Given the description of an element on the screen output the (x, y) to click on. 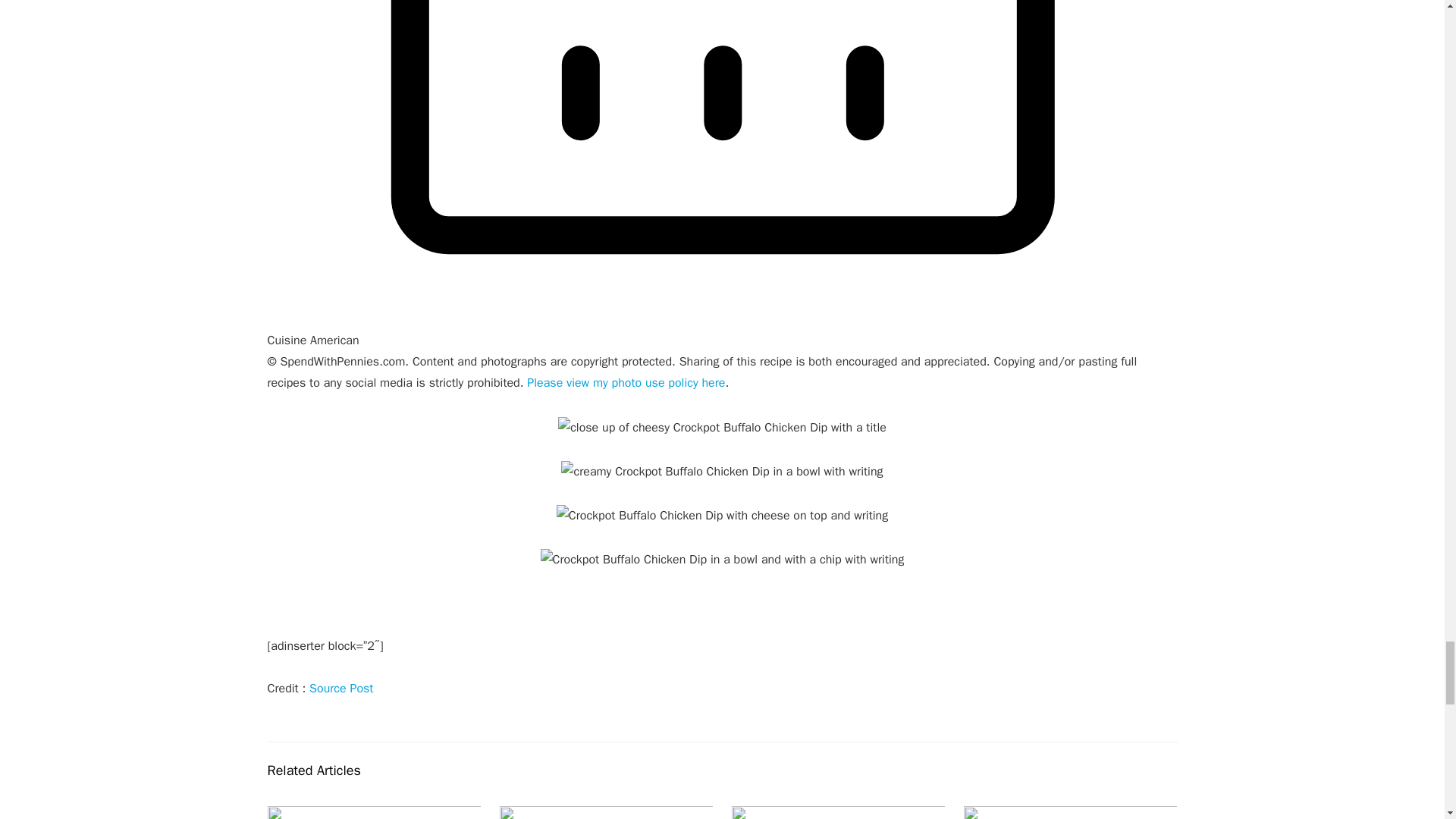
Please view my photo use policy here (626, 382)
Source Post (340, 688)
